Given the description of an element on the screen output the (x, y) to click on. 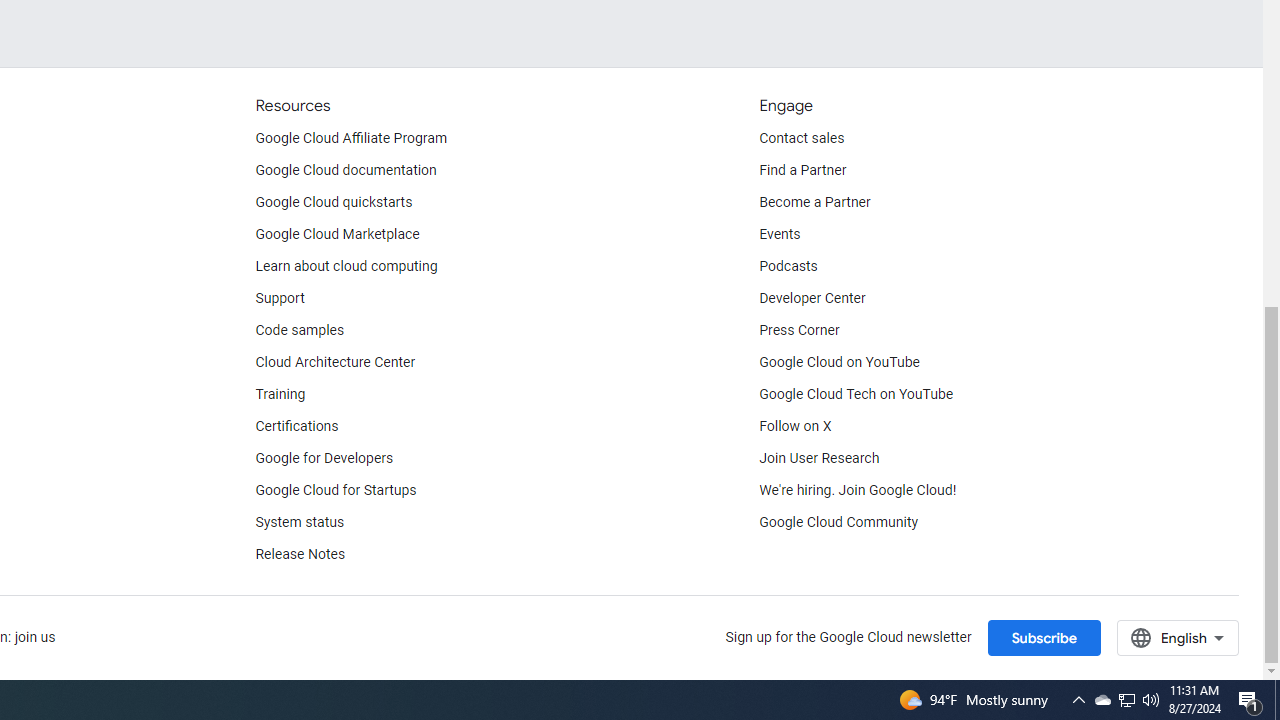
Training (279, 394)
Join User Research (819, 458)
Certifications (296, 426)
Google Cloud Affiliate Program (351, 138)
Contact sales (801, 138)
Find a Partner (803, 170)
Google Cloud quickstarts (333, 202)
Google Cloud Marketplace (336, 234)
Events (780, 234)
Google for Developers (324, 458)
Google Cloud documentation (345, 170)
Google Cloud Community (839, 522)
Google Cloud for Startups (335, 490)
Google Cloud on YouTube (839, 362)
